Given the description of an element on the screen output the (x, y) to click on. 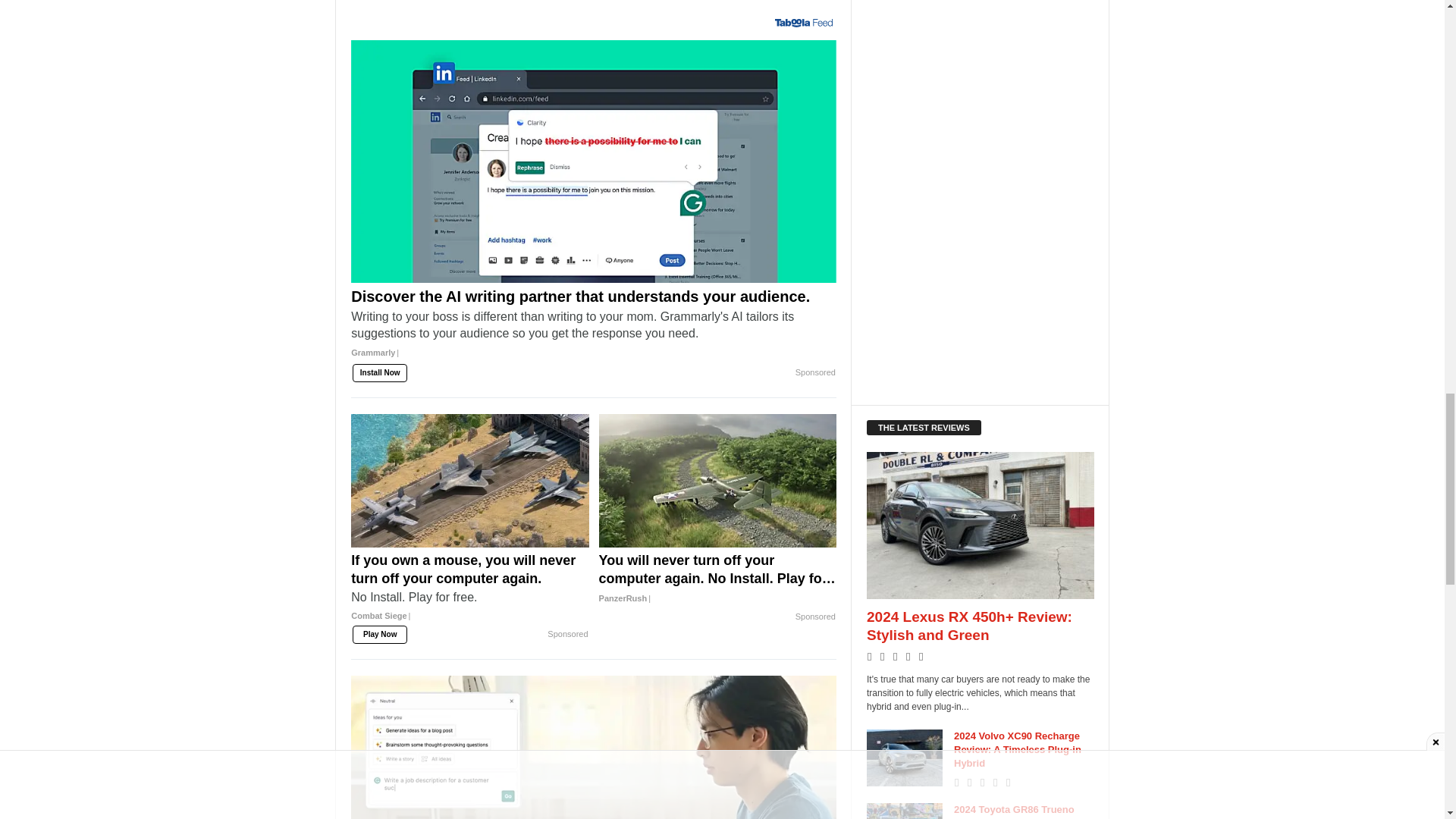
Play Now (379, 634)
Sponsored (814, 616)
Install Now (379, 372)
Sponsored (814, 372)
Sponsored (567, 634)
